Given the description of an element on the screen output the (x, y) to click on. 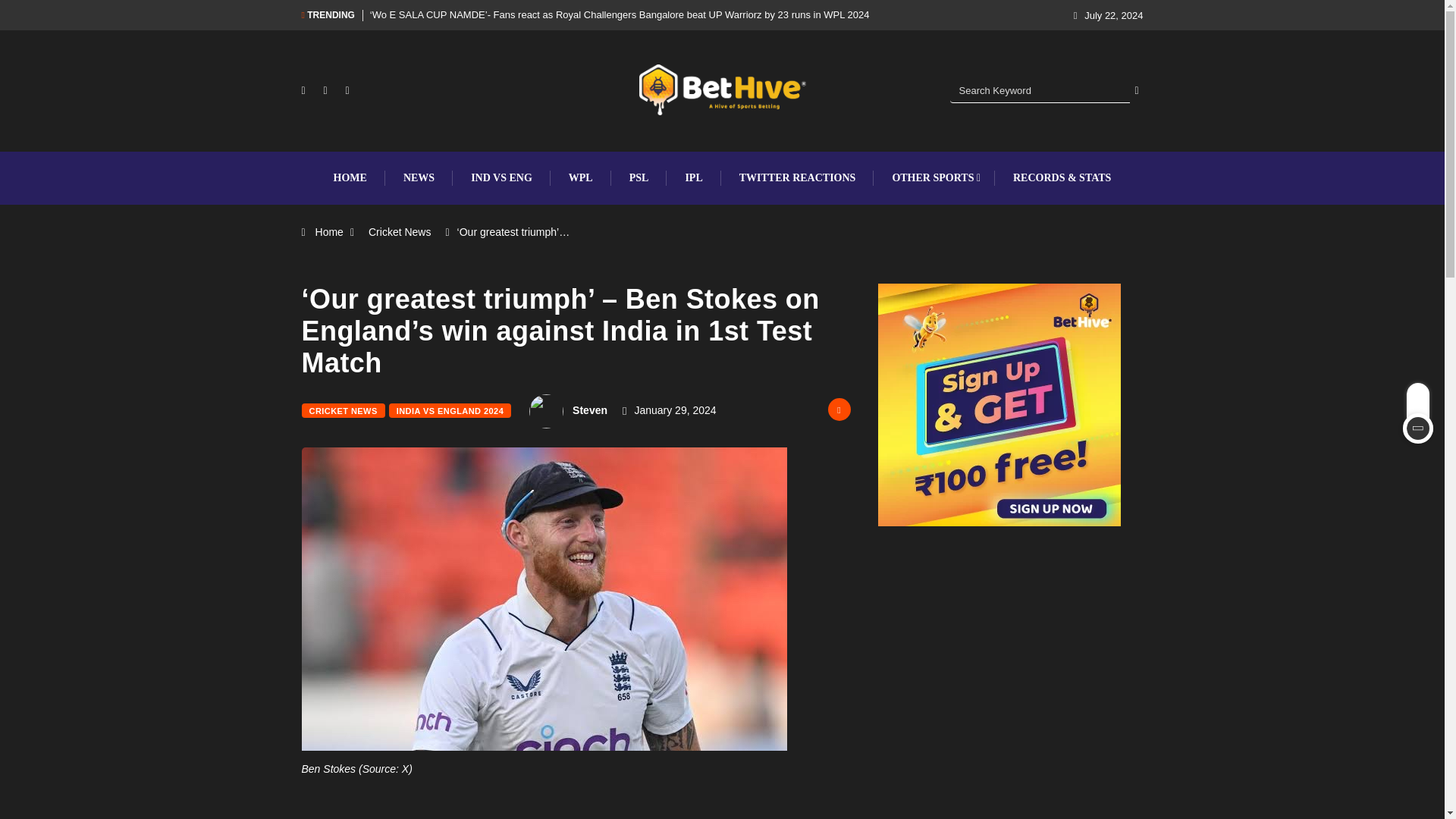
Steven (589, 410)
TWITTER REACTIONS (797, 177)
OTHER SPORTS (933, 177)
Cricket News (399, 232)
IND VS ENG (501, 177)
Home (329, 232)
INDIA VS ENGLAND 2024 (449, 410)
CRICKET NEWS (343, 410)
